Given the description of an element on the screen output the (x, y) to click on. 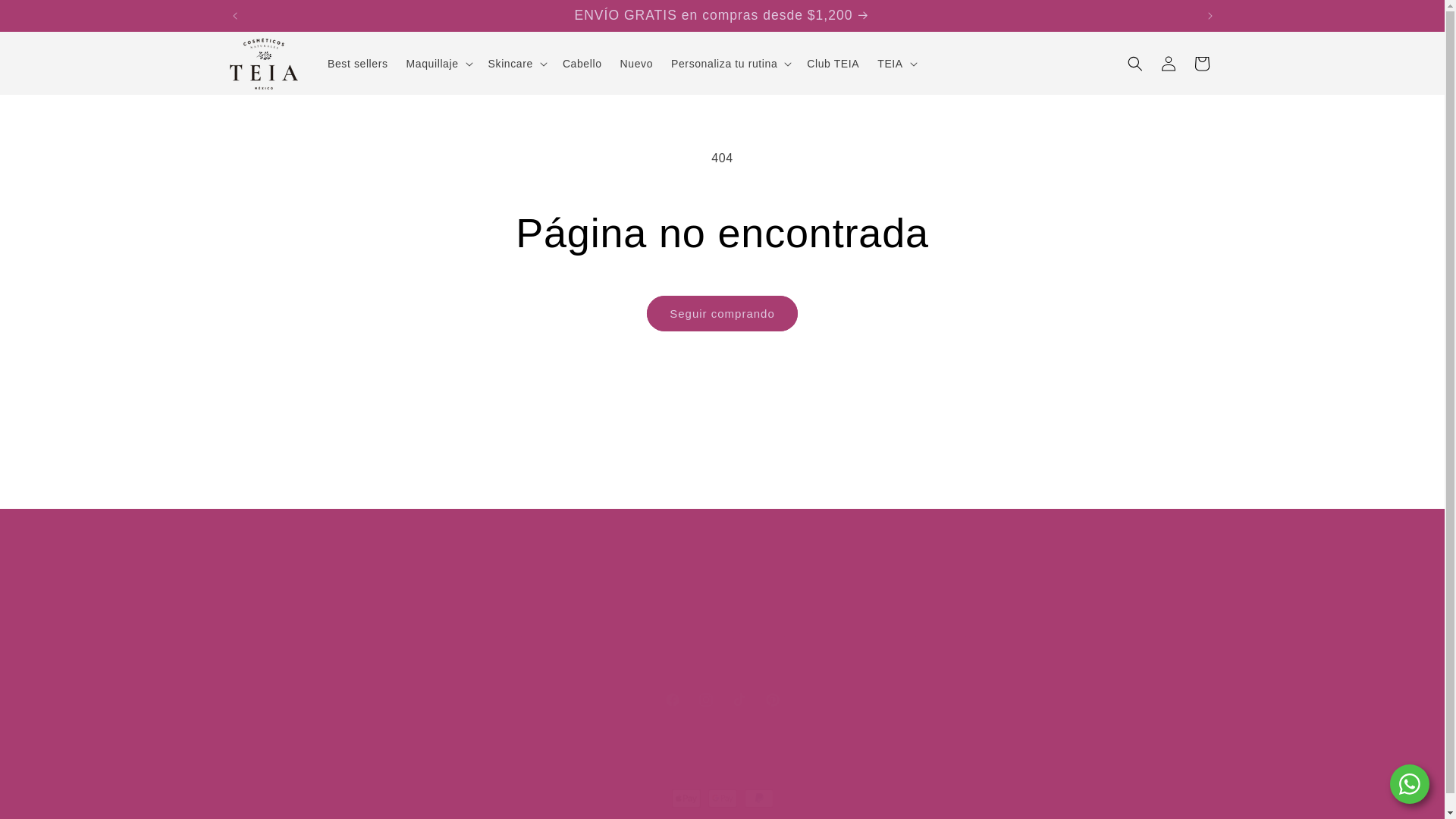
Best sellers (357, 63)
Ir directamente al contenido (45, 17)
